Given the description of an element on the screen output the (x, y) to click on. 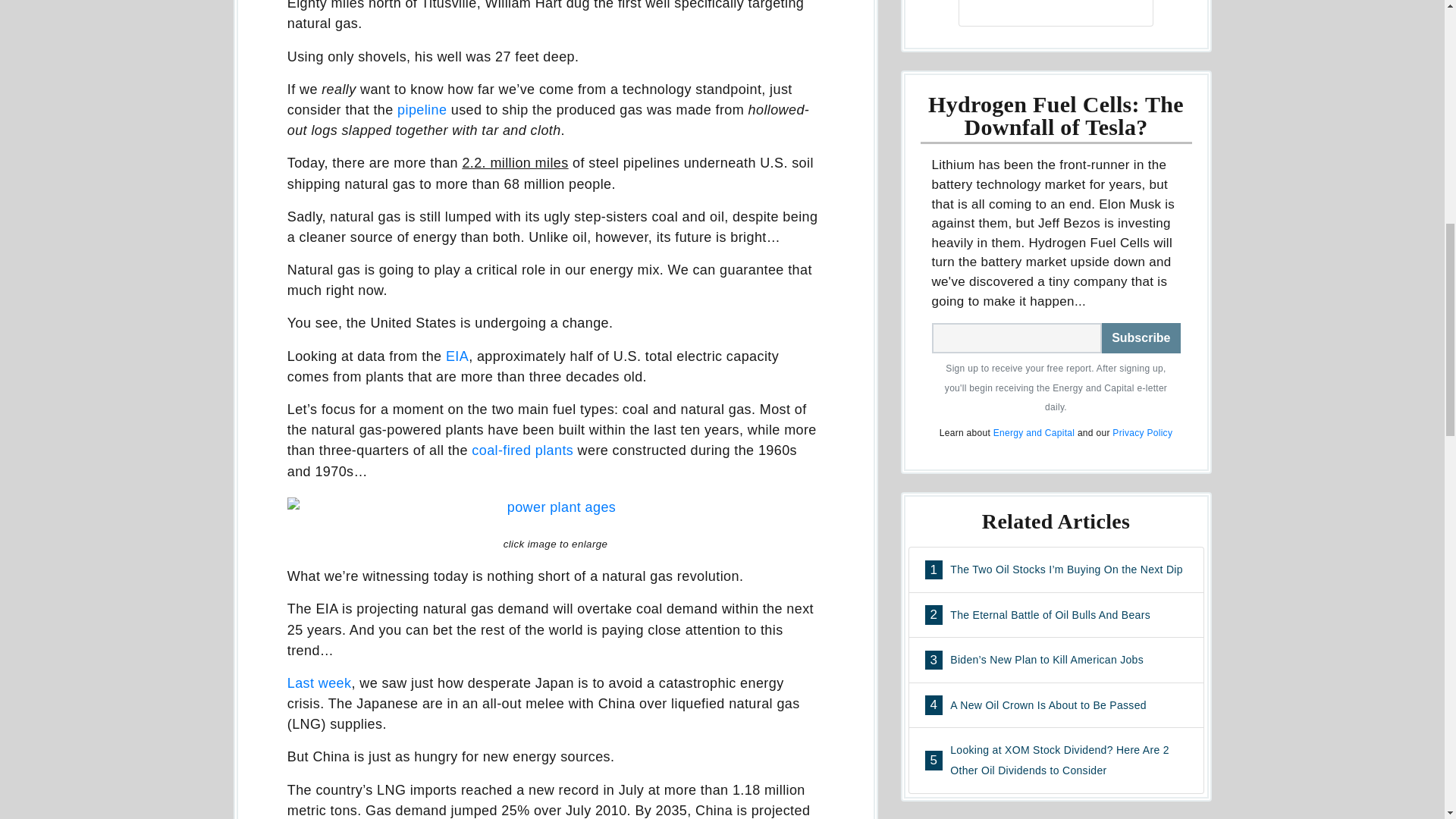
EIA (456, 355)
pipeline (421, 109)
Last week (319, 683)
coal-fired plants (522, 450)
